Given the description of an element on the screen output the (x, y) to click on. 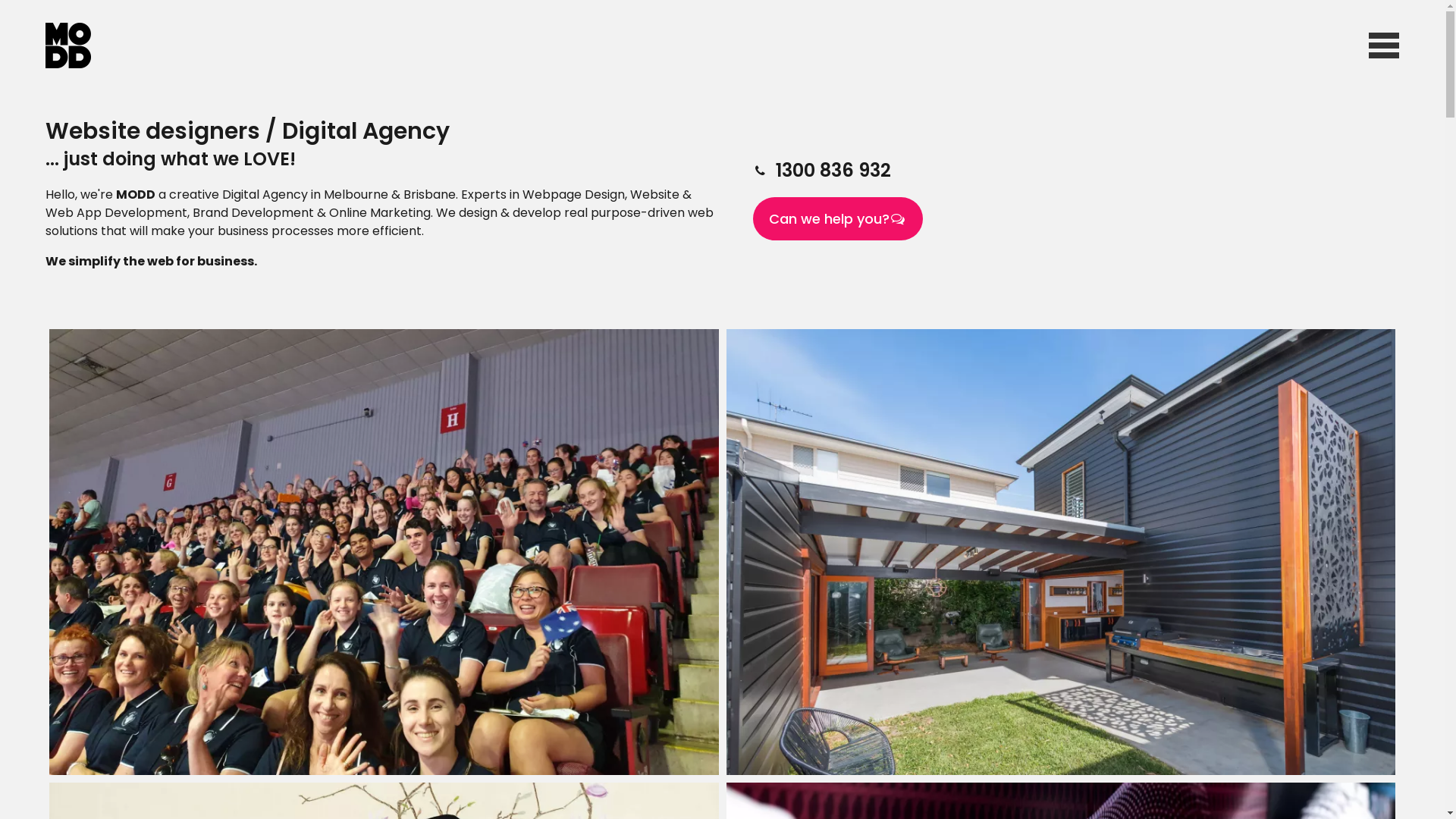
Can we help you? Element type: text (837, 218)
1300 836 932 Element type: text (833, 169)
